Given the description of an element on the screen output the (x, y) to click on. 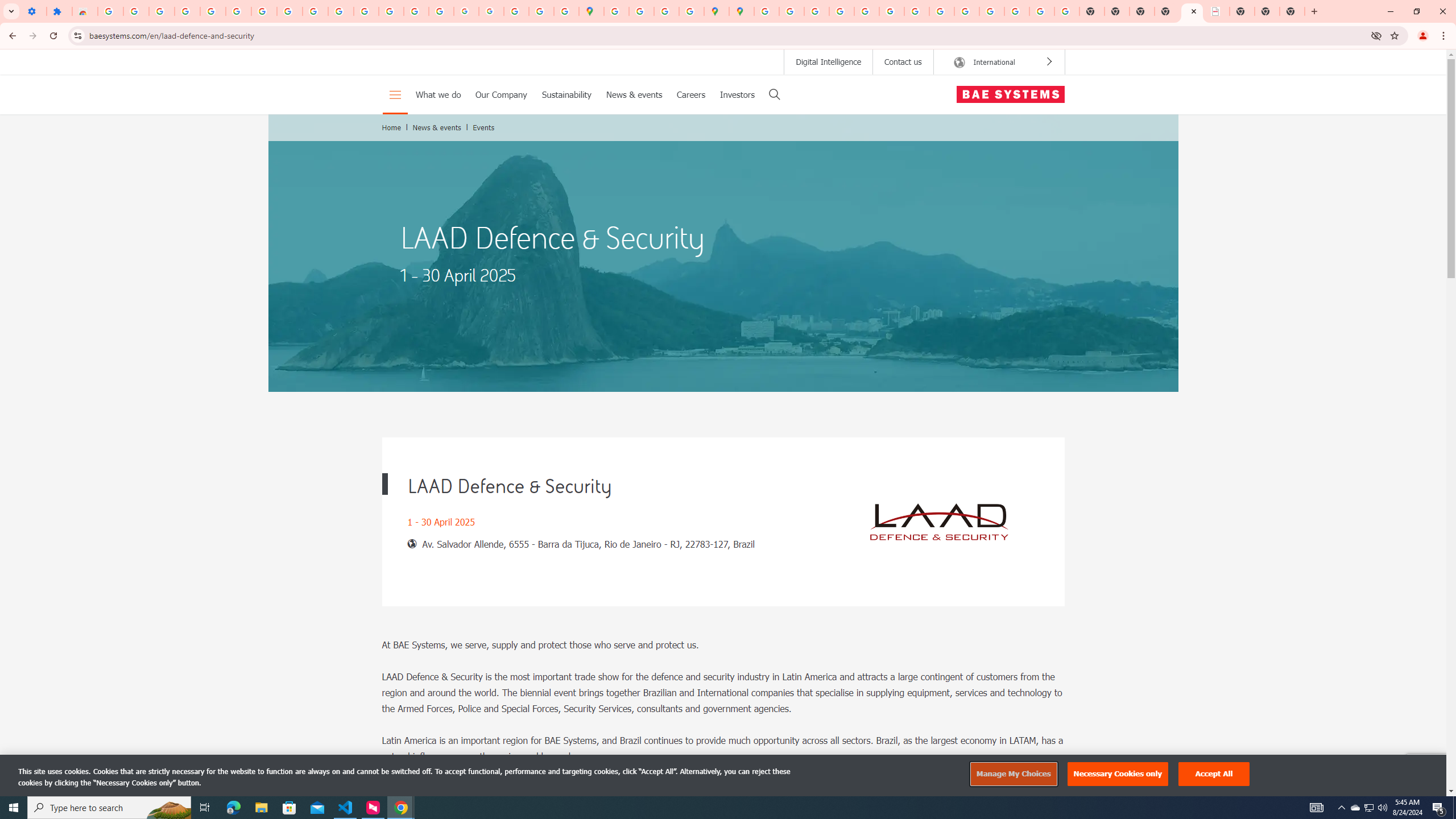
Sign in - Google Accounts (110, 11)
Sign in - Google Accounts (238, 11)
Manage My Choices (1013, 774)
Learn how to find your photos - Google Photos Help (186, 11)
